Given the description of an element on the screen output the (x, y) to click on. 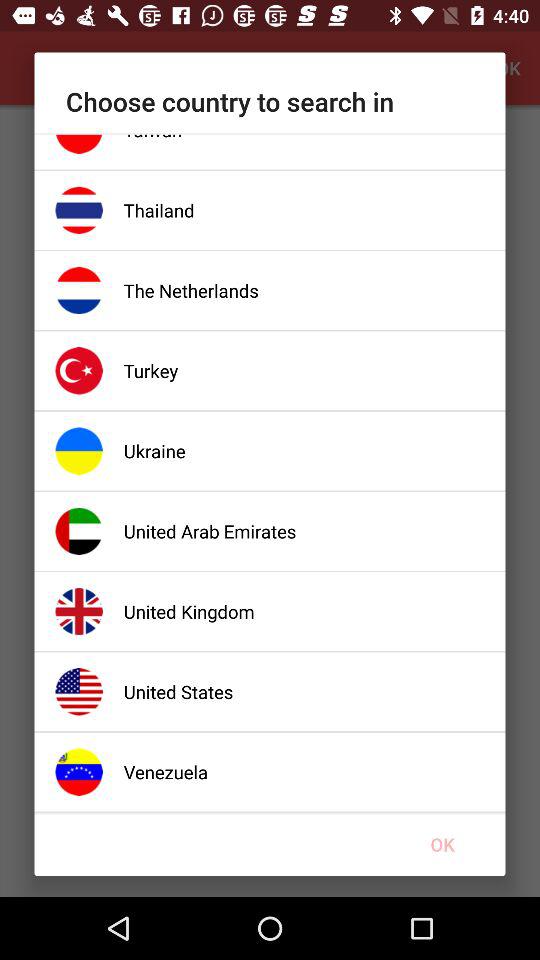
jump to ok icon (442, 844)
